Given the description of an element on the screen output the (x, y) to click on. 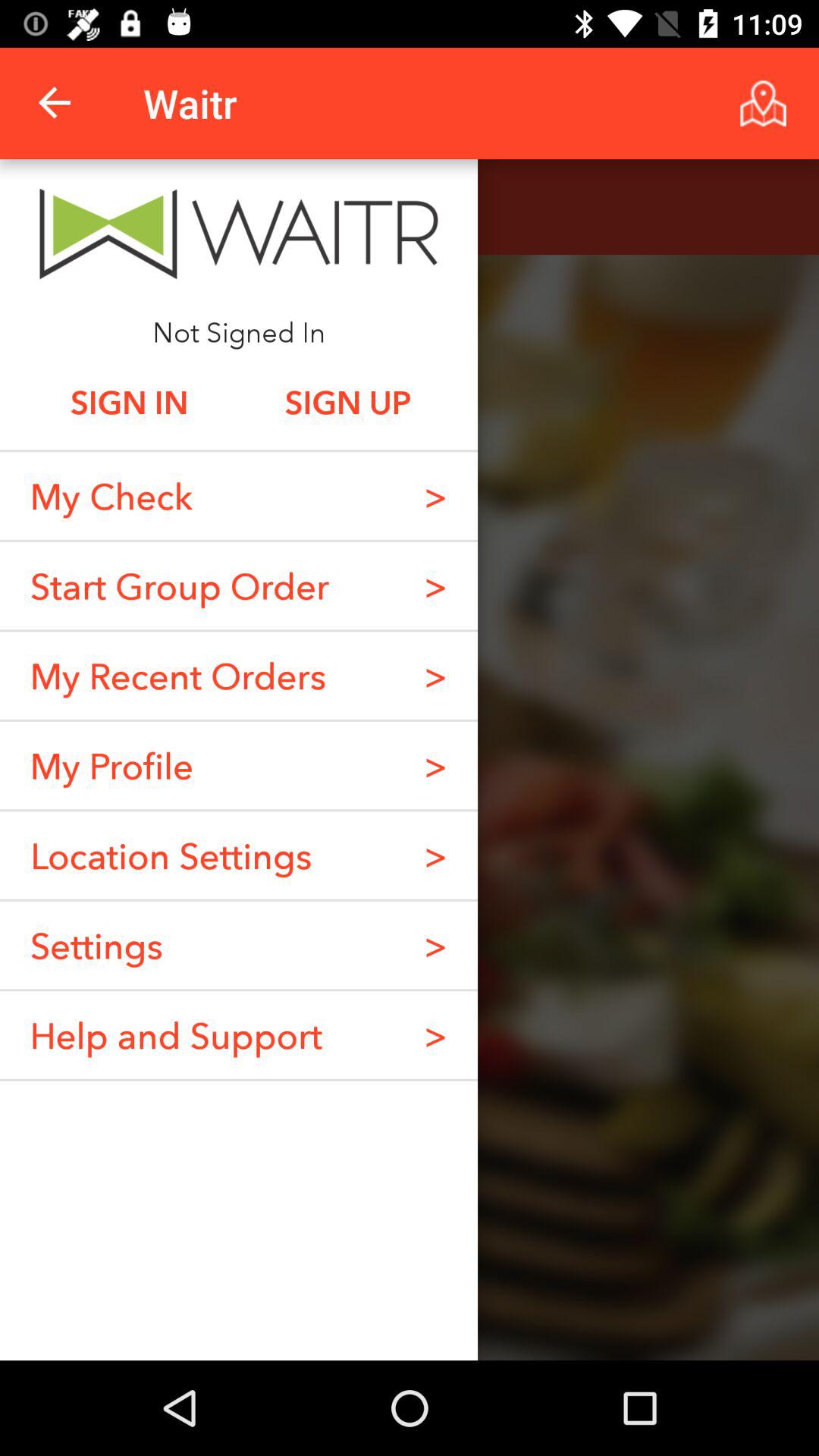
turn off the item to the right of start group order icon (435, 585)
